Given the description of an element on the screen output the (x, y) to click on. 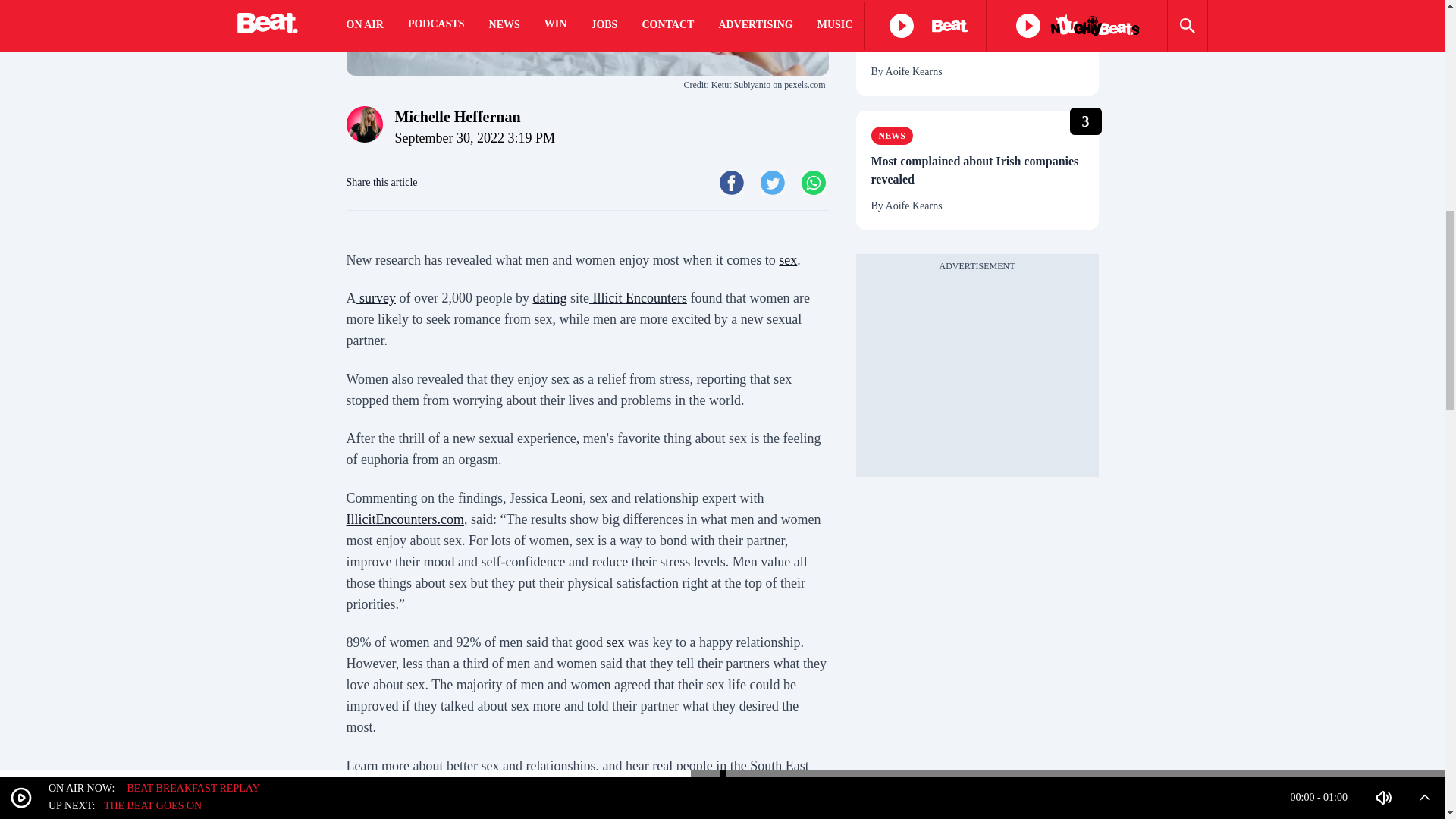
News (891, 135)
News (891, 19)
Most complained about Irish companies revealed (976, 170)
Ryanair announces 24-hr flash sale (976, 45)
